Given the description of an element on the screen output the (x, y) to click on. 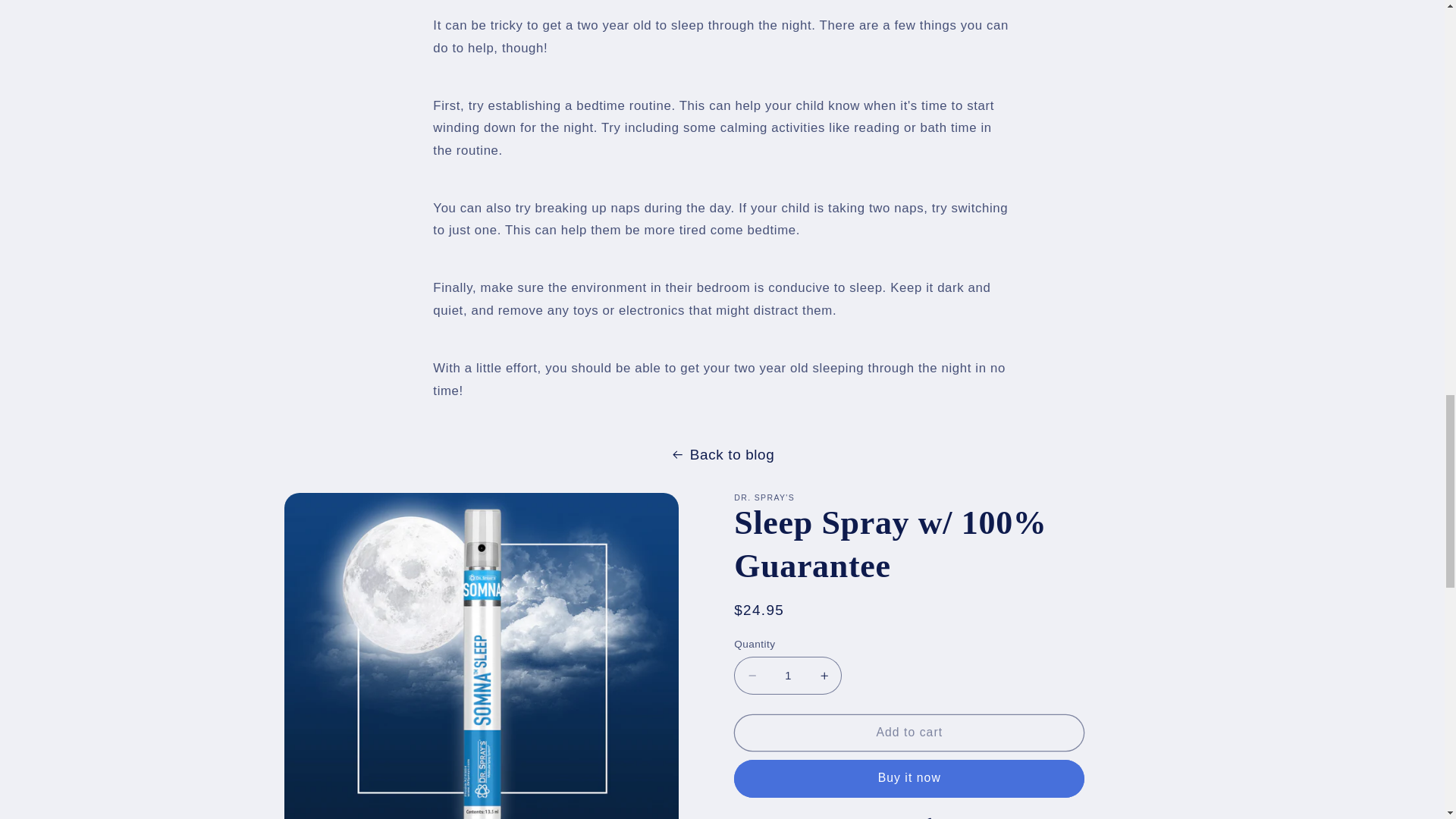
1 (787, 674)
